Given the description of an element on the screen output the (x, y) to click on. 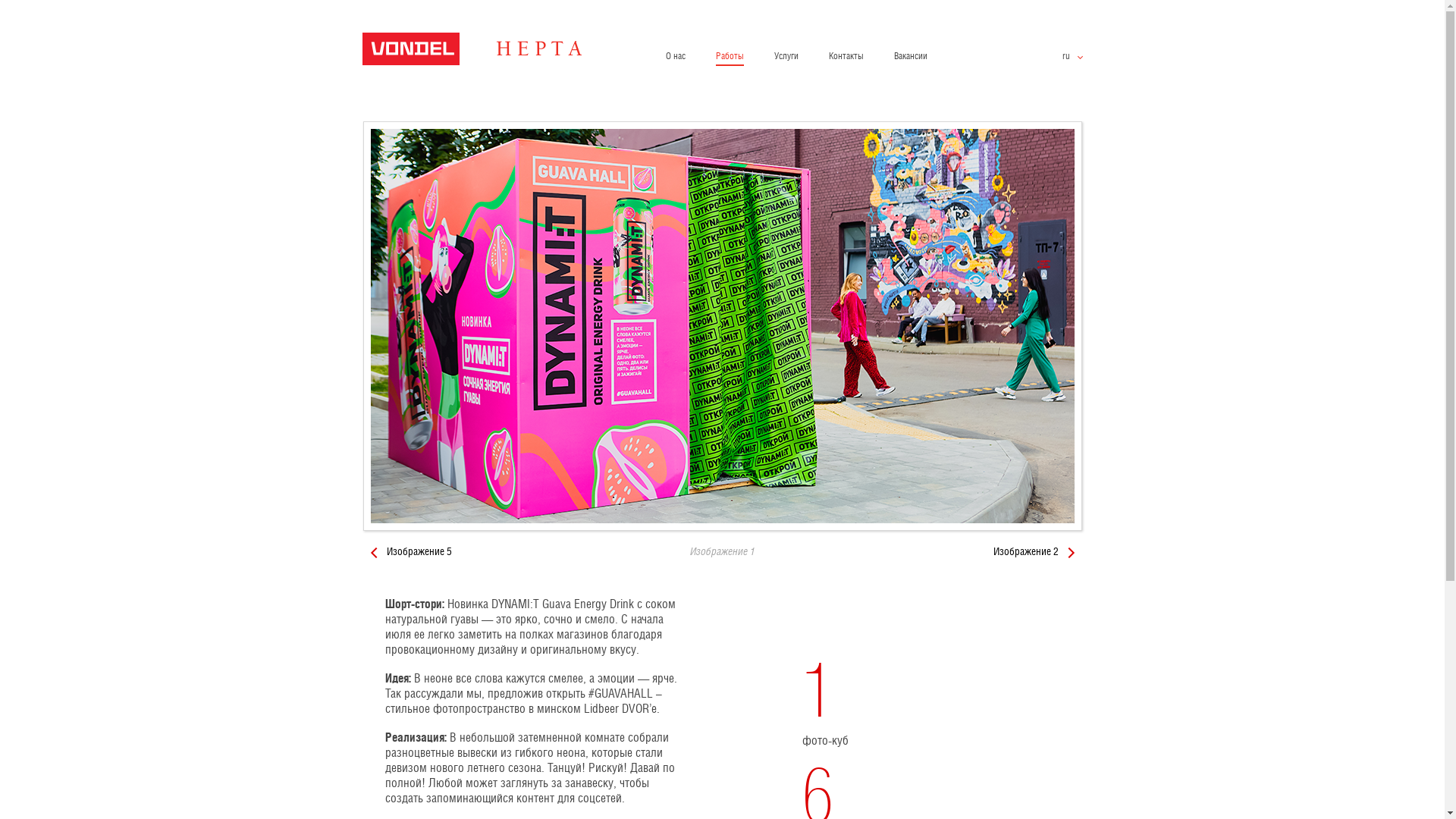
ru Element type: text (1071, 56)
Vondel Element type: text (491, 56)
